Given the description of an element on the screen output the (x, y) to click on. 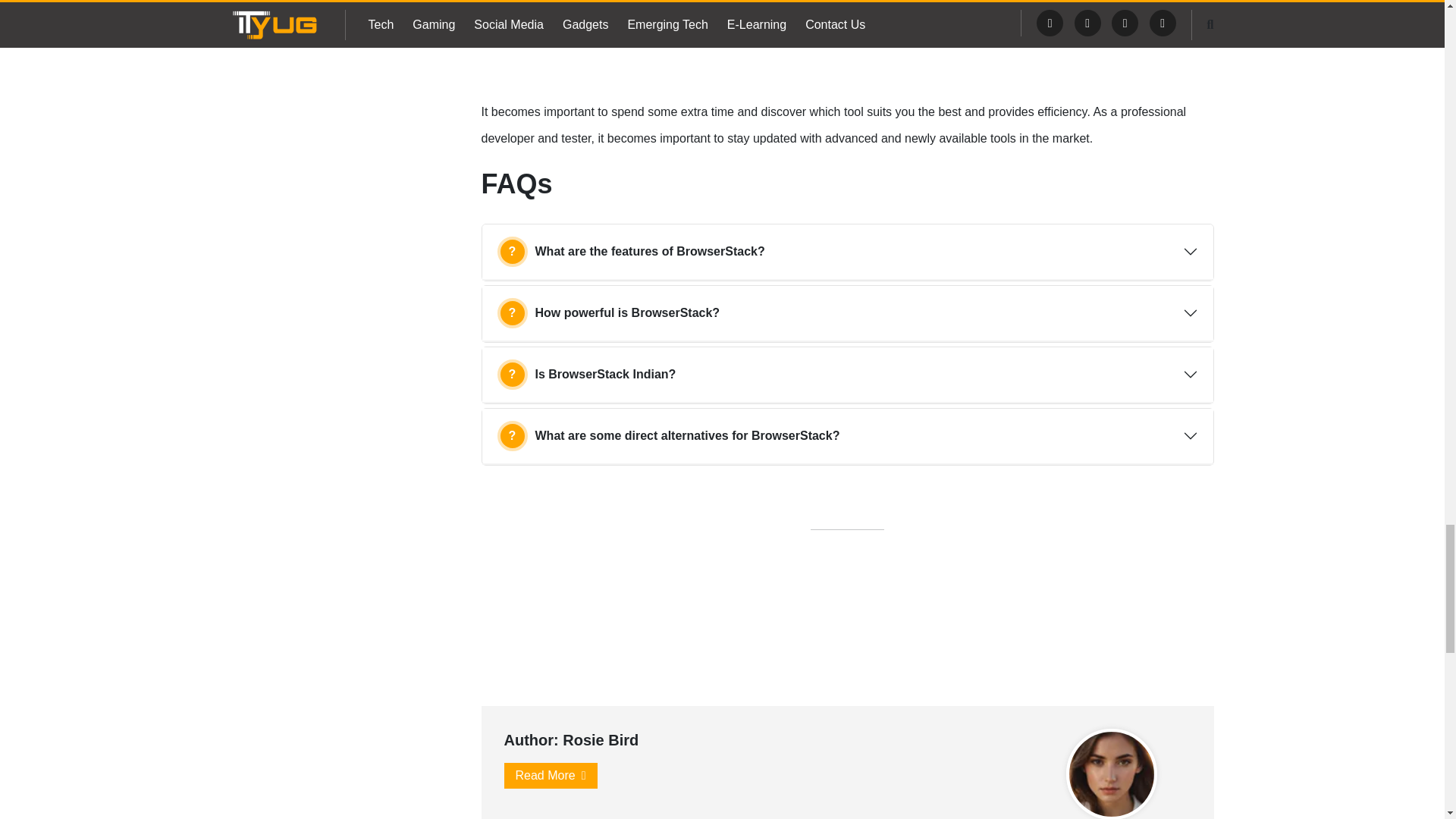
How powerful is BrowserStack? (846, 312)
Advertisement (846, 49)
What are the features of BrowserStack? (846, 251)
Is BrowserStack Indian? (846, 374)
What are some direct alternatives for BrowserStack? (846, 435)
Read More (550, 775)
